Given the description of an element on the screen output the (x, y) to click on. 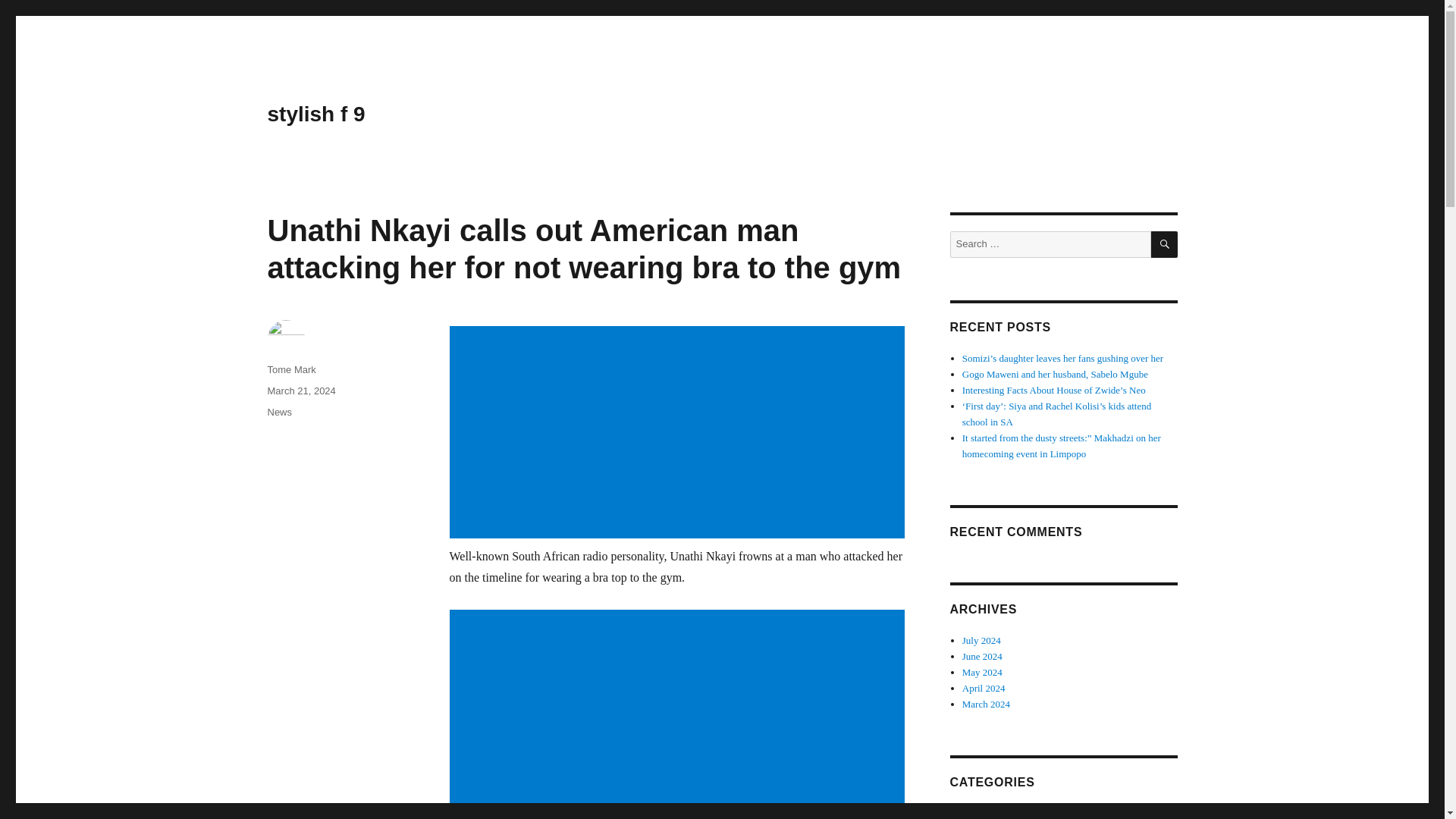
May 2024 (982, 672)
July 2024 (981, 640)
June 2024 (982, 655)
News (279, 411)
SEARCH (1164, 243)
2022 OMG news (996, 813)
Advertisement (679, 714)
April 2024 (984, 687)
Tome Mark (290, 369)
March 21, 2024 (300, 390)
March 2024 (986, 704)
Advertisement (679, 433)
Gogo Maweni and her husband, Sabelo Mgube (1055, 374)
stylish f 9 (315, 114)
